Given the description of an element on the screen output the (x, y) to click on. 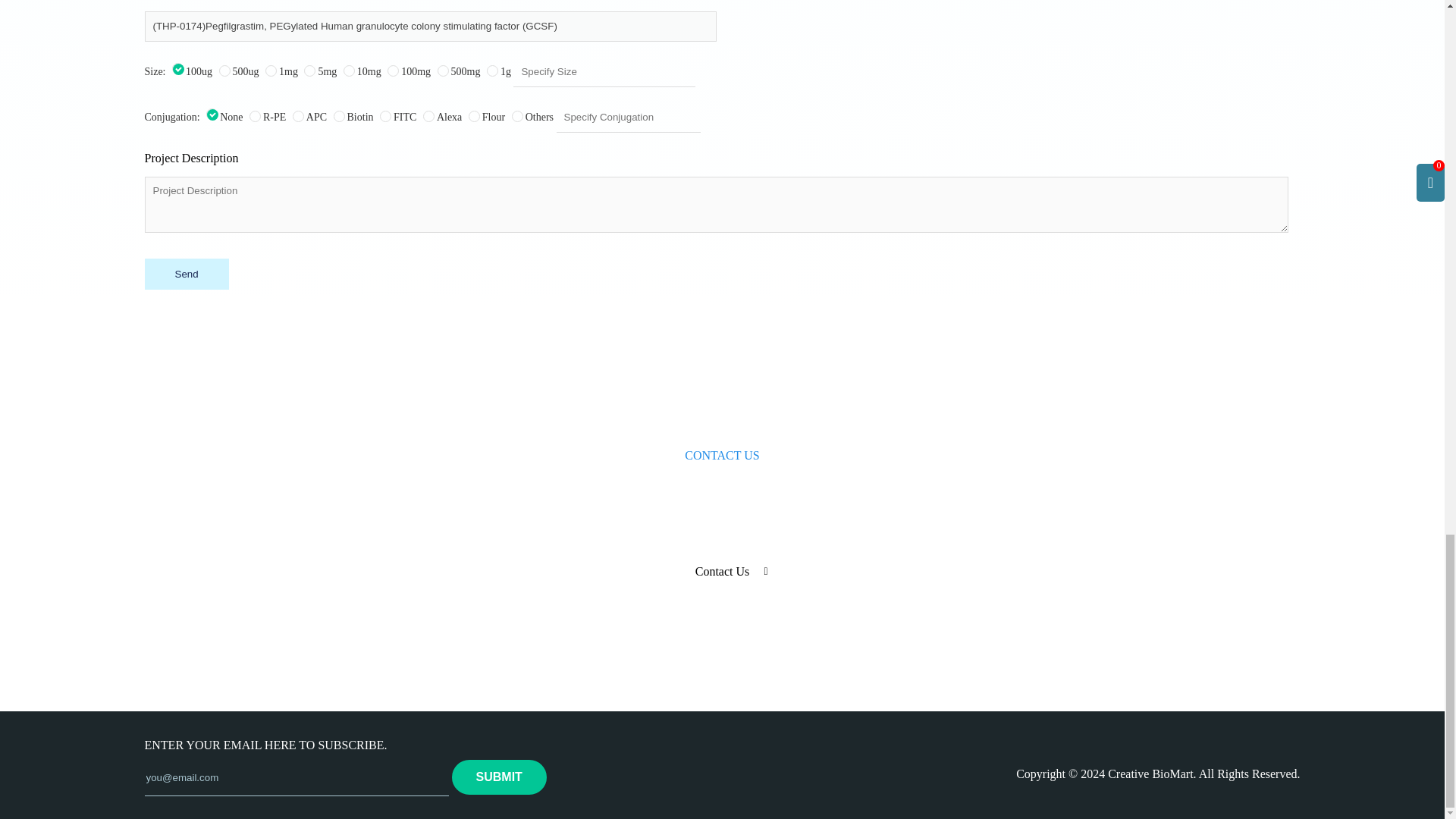
1mg (270, 70)
100ug (177, 68)
100mg (392, 70)
10mg (349, 70)
5mg (309, 70)
1g (491, 70)
500ug (224, 70)
500mg (443, 70)
